Given the description of an element on the screen output the (x, y) to click on. 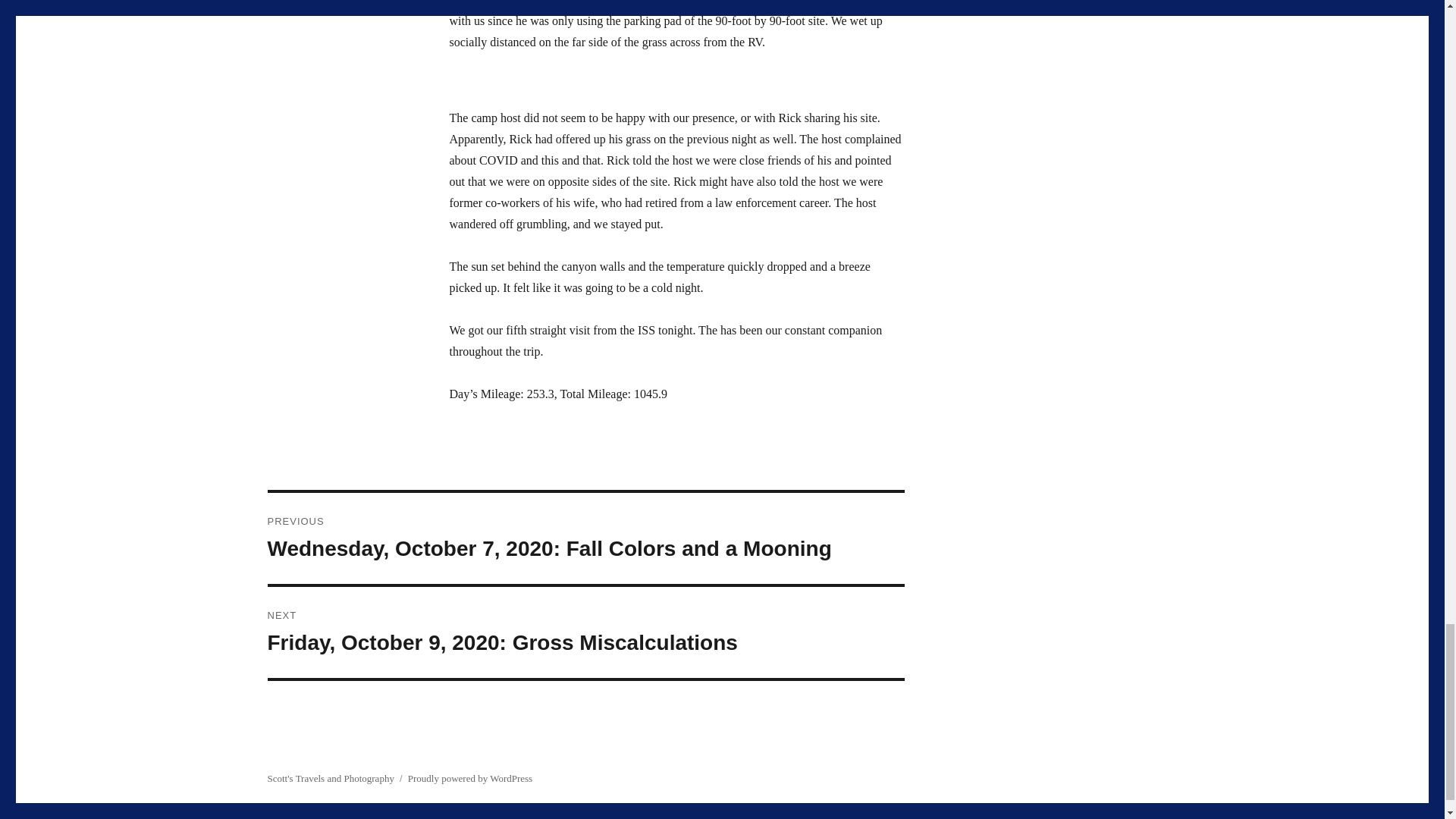
Proudly powered by WordPress (469, 778)
Scott's Travels and Photography (329, 778)
